Given the description of an element on the screen output the (x, y) to click on. 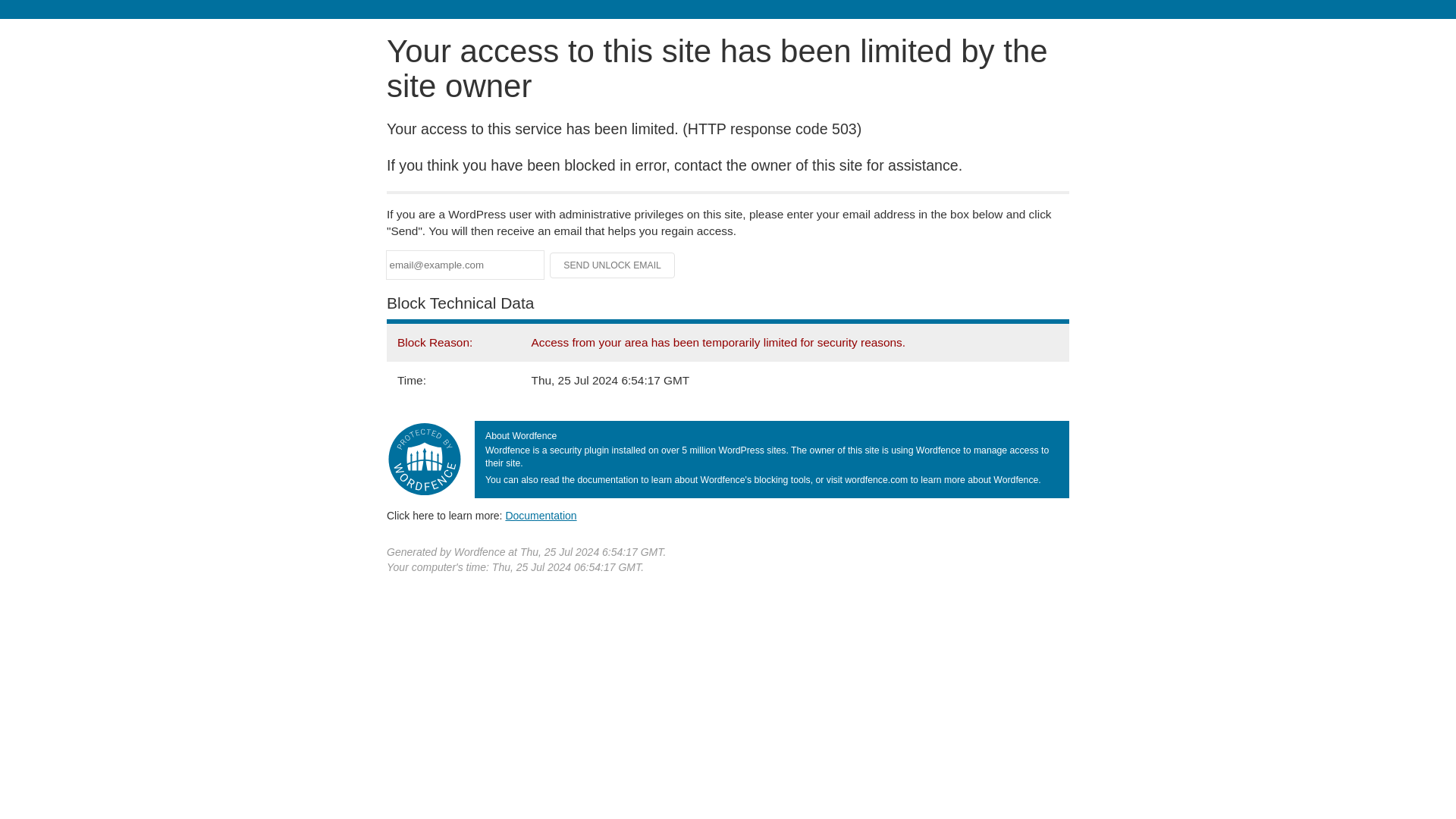
Send Unlock Email (612, 265)
Documentation (540, 515)
Send Unlock Email (612, 265)
